Given the description of an element on the screen output the (x, y) to click on. 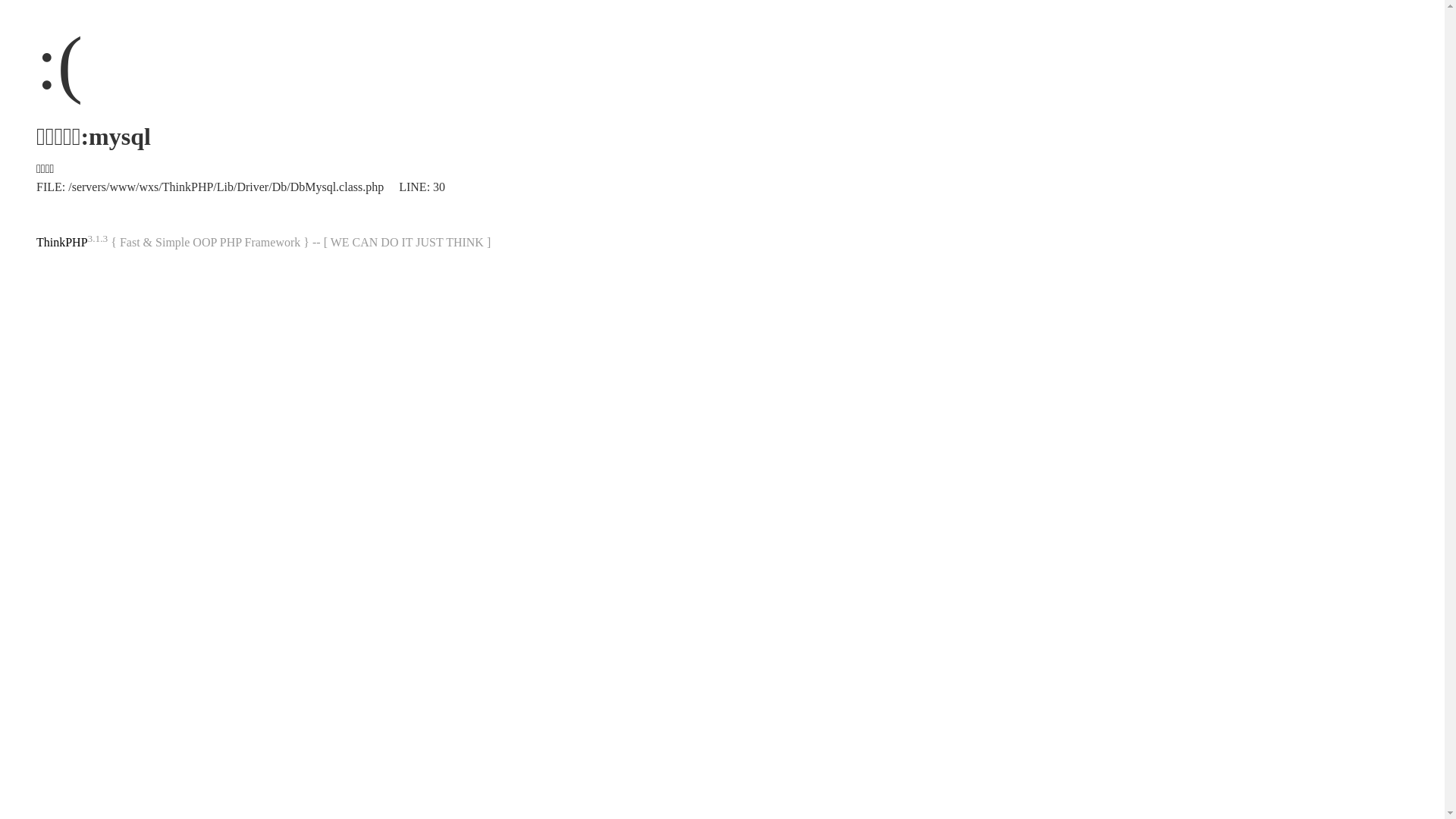
ThinkPHP Element type: text (61, 241)
